Given the description of an element on the screen output the (x, y) to click on. 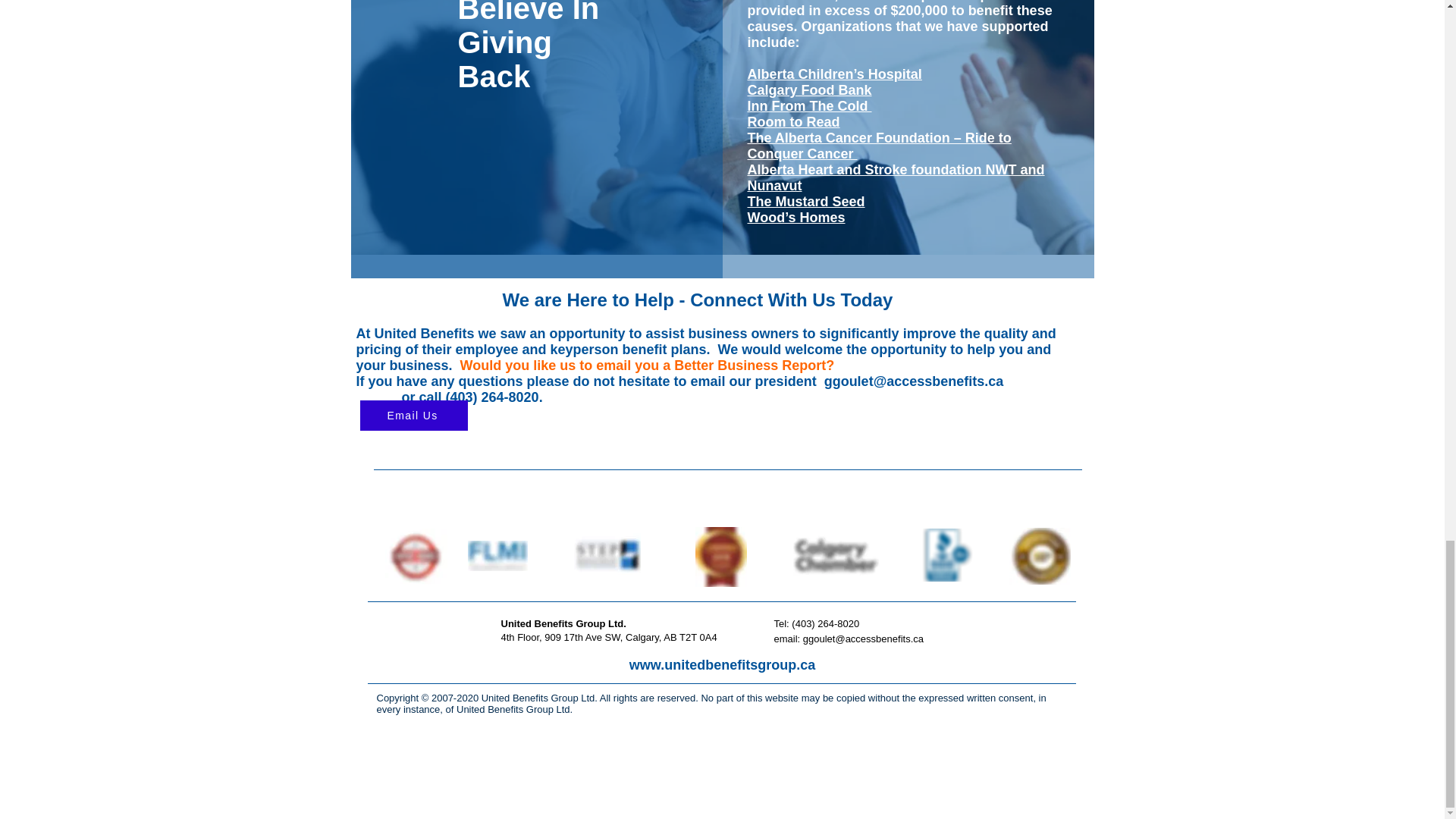
Room to Read (794, 121)
Email Us (413, 415)
Inn From The Cold  (810, 105)
Alberta Heart and Stroke foundation NWT and Nunavut (896, 177)
The Mustard Seed (806, 201)
www.unitedbenefitsgroup.ca (721, 664)
Calgary Food Bank (810, 89)
